Given the description of an element on the screen output the (x, y) to click on. 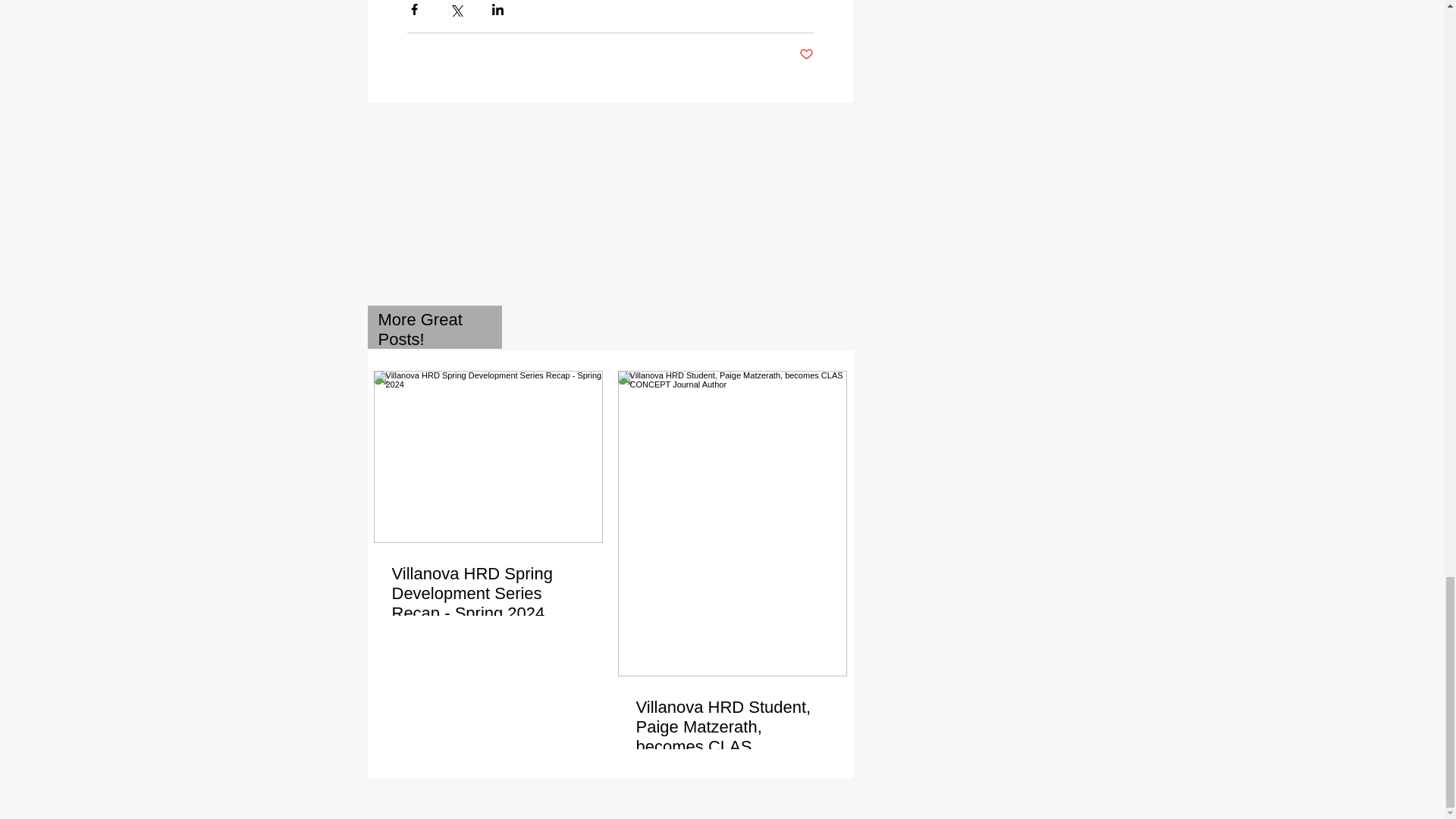
Post not marked as liked (806, 54)
Villanova HRD Spring Development Series Recap - Spring 2024 (487, 593)
